Given the description of an element on the screen output the (x, y) to click on. 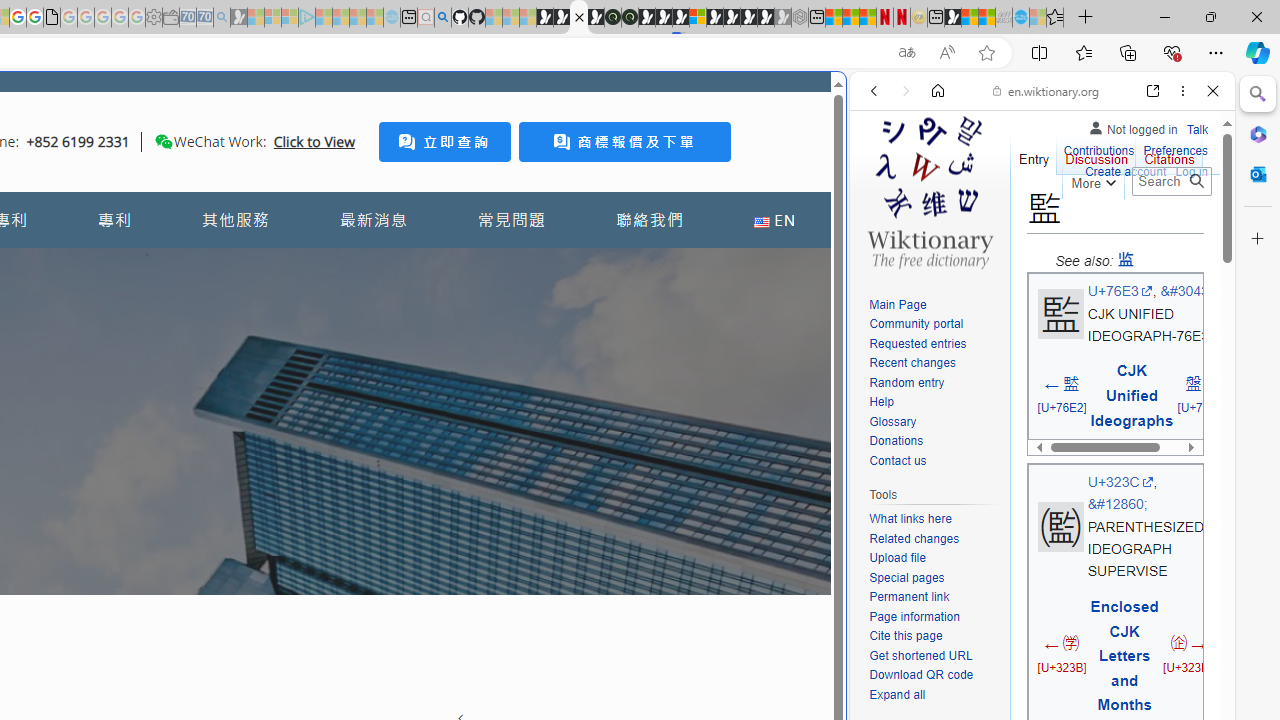
Random entry (906, 382)
U+76E3 (1119, 291)
Log in (1191, 172)
Contact us (897, 460)
Recent changes (912, 362)
Donations (896, 441)
CJK Unified Ideographs (1131, 395)
EN (774, 220)
